Given the description of an element on the screen output the (x, y) to click on. 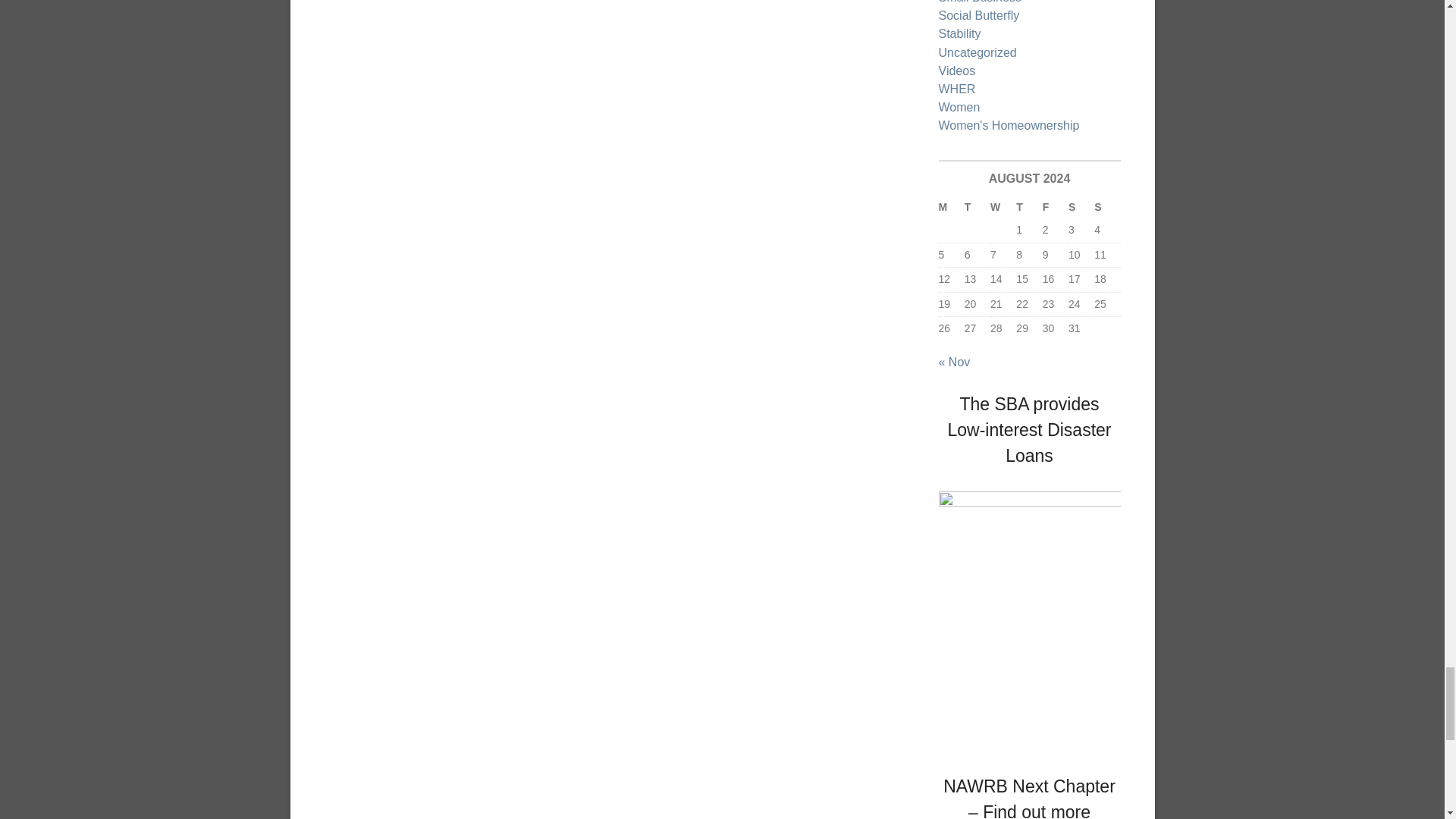
Tuesday (976, 207)
Sunday (1106, 207)
Wednesday (1003, 207)
Friday (1055, 207)
Thursday (1029, 207)
Monday (951, 207)
Saturday (1081, 207)
